Given the description of an element on the screen output the (x, y) to click on. 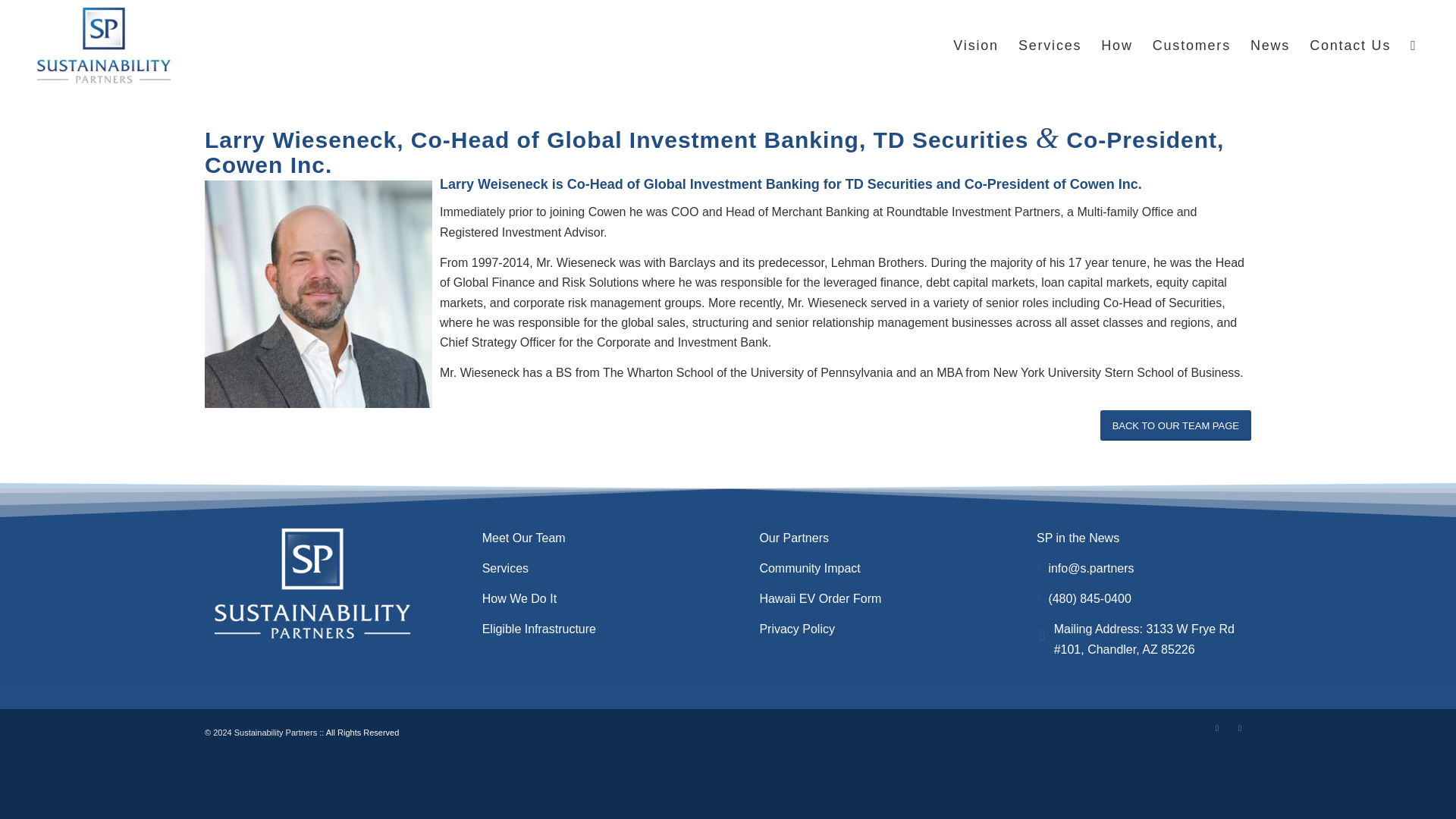
Privacy Policy (796, 628)
Contact Us (1350, 45)
How We Do It (518, 598)
Our Partners (793, 537)
Facebook (1239, 727)
Hawaii EV Order Form (819, 598)
Community Impact (809, 567)
BACK TO OUR TEAM PAGE (1175, 425)
Services (504, 567)
SP in the News (1077, 537)
